Given the description of an element on the screen output the (x, y) to click on. 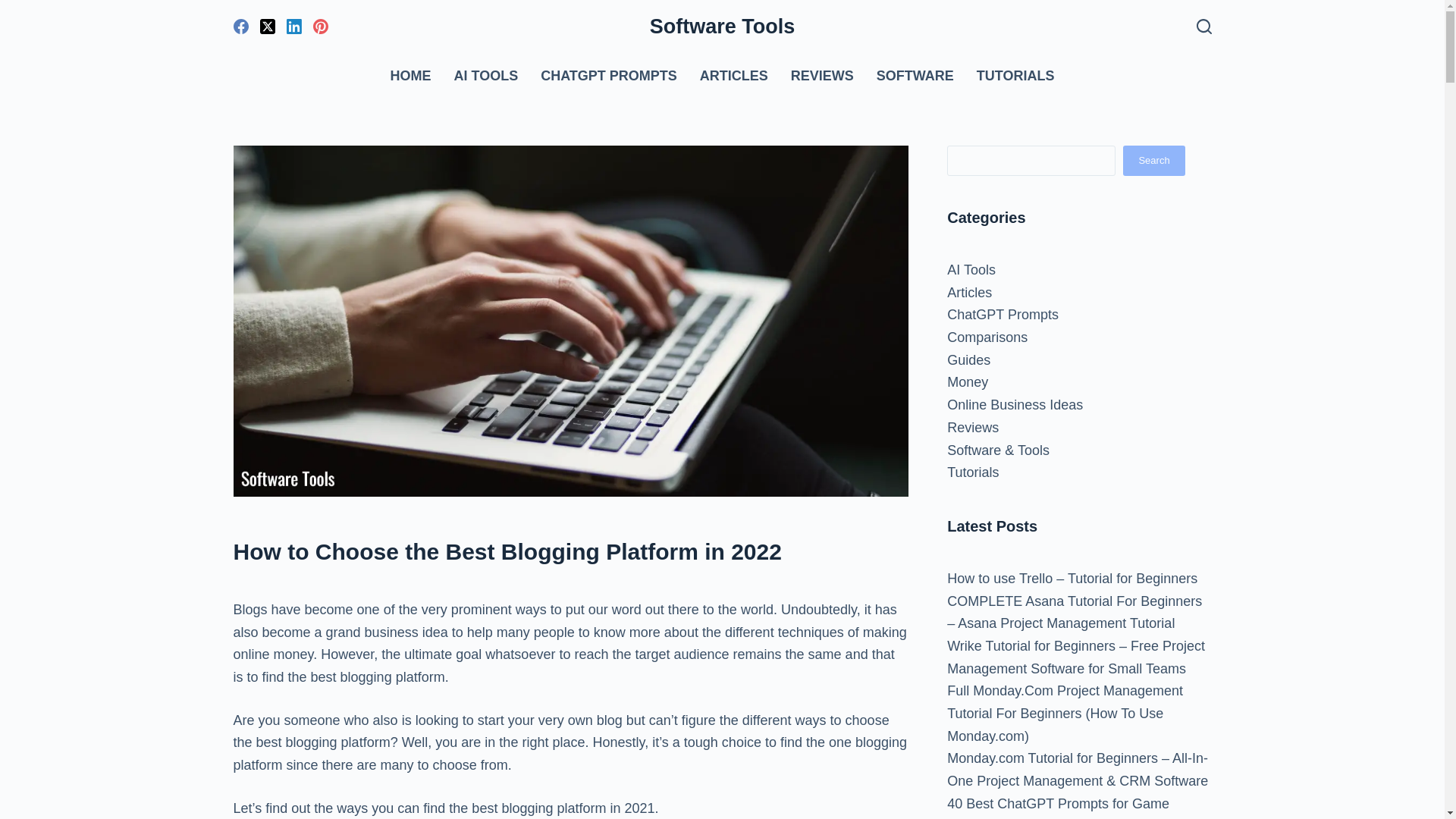
Search (1153, 160)
Money (967, 381)
Comparisons (987, 337)
Articles (969, 292)
REVIEWS (821, 76)
Guides (968, 359)
AI Tools (971, 269)
Software Tools (721, 26)
Skip to content (15, 7)
SOFTWARE (914, 76)
ChatGPT Prompts (1002, 314)
How to Choose the Best Blogging Platform in 2022 (570, 551)
ARTICLES (733, 76)
TUTORIALS (1009, 76)
Online Business Ideas (1015, 404)
